Given the description of an element on the screen output the (x, y) to click on. 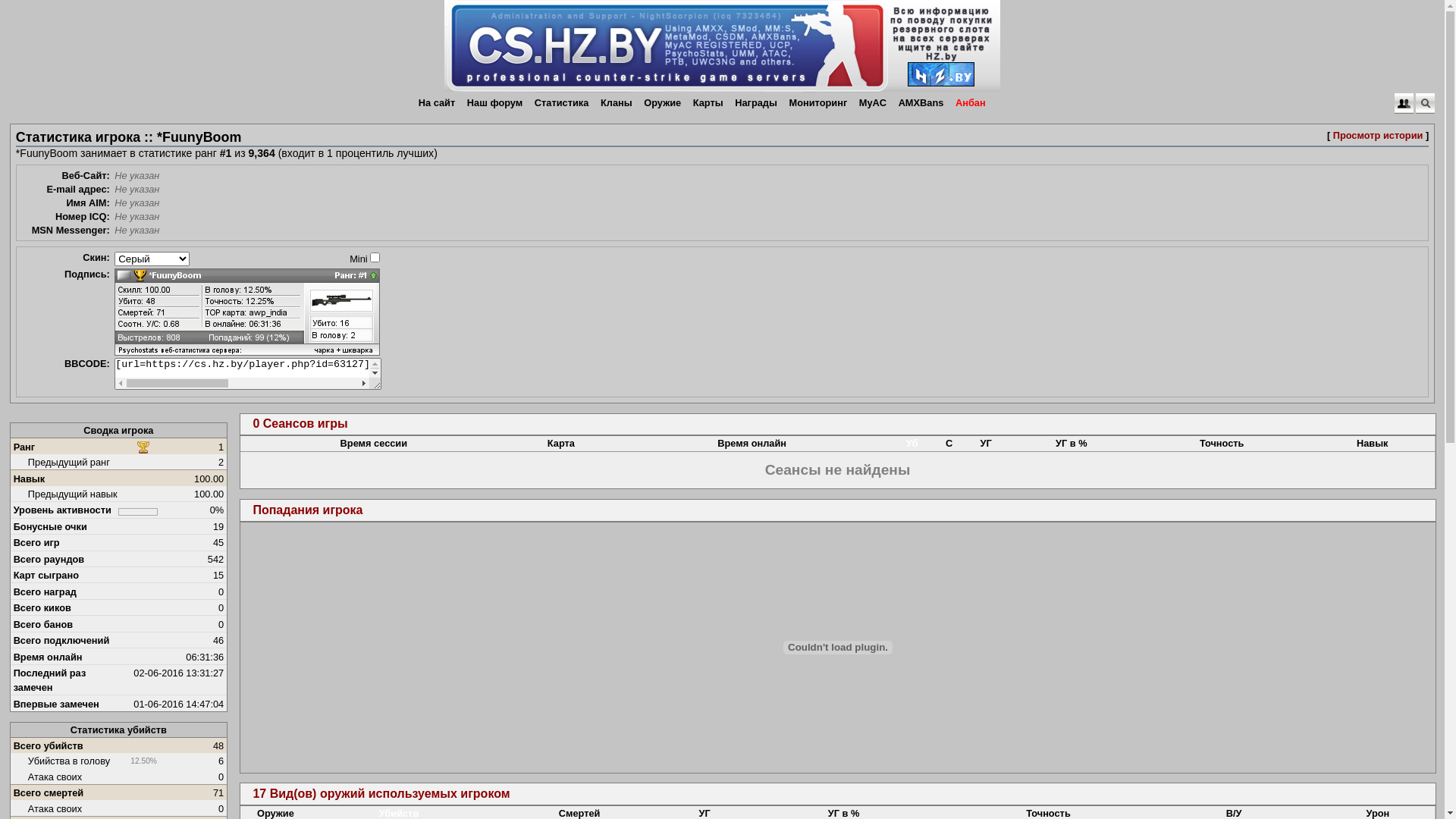
MyAC Element type: text (872, 102)
0% Element type: hover (137, 511)
Quick Login Popup Element type: hover (1403, 102)
AMXBans Element type: text (921, 102)
Quick Search Popup Element type: hover (1424, 102)
on Element type: text (374, 257)
